Given the description of an element on the screen output the (x, y) to click on. 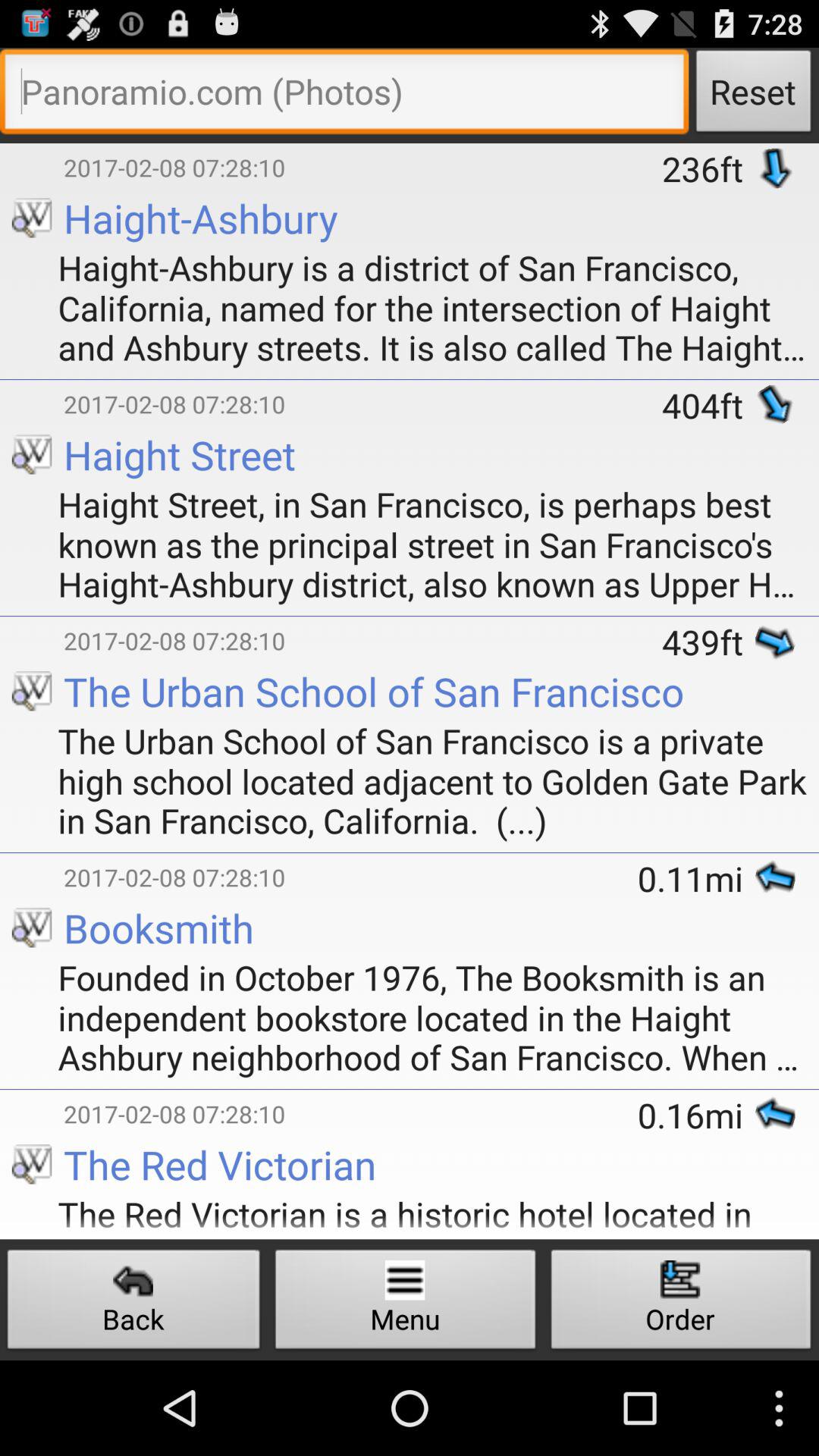
launch the app to the left of haight street in app (13, 483)
